Given the description of an element on the screen output the (x, y) to click on. 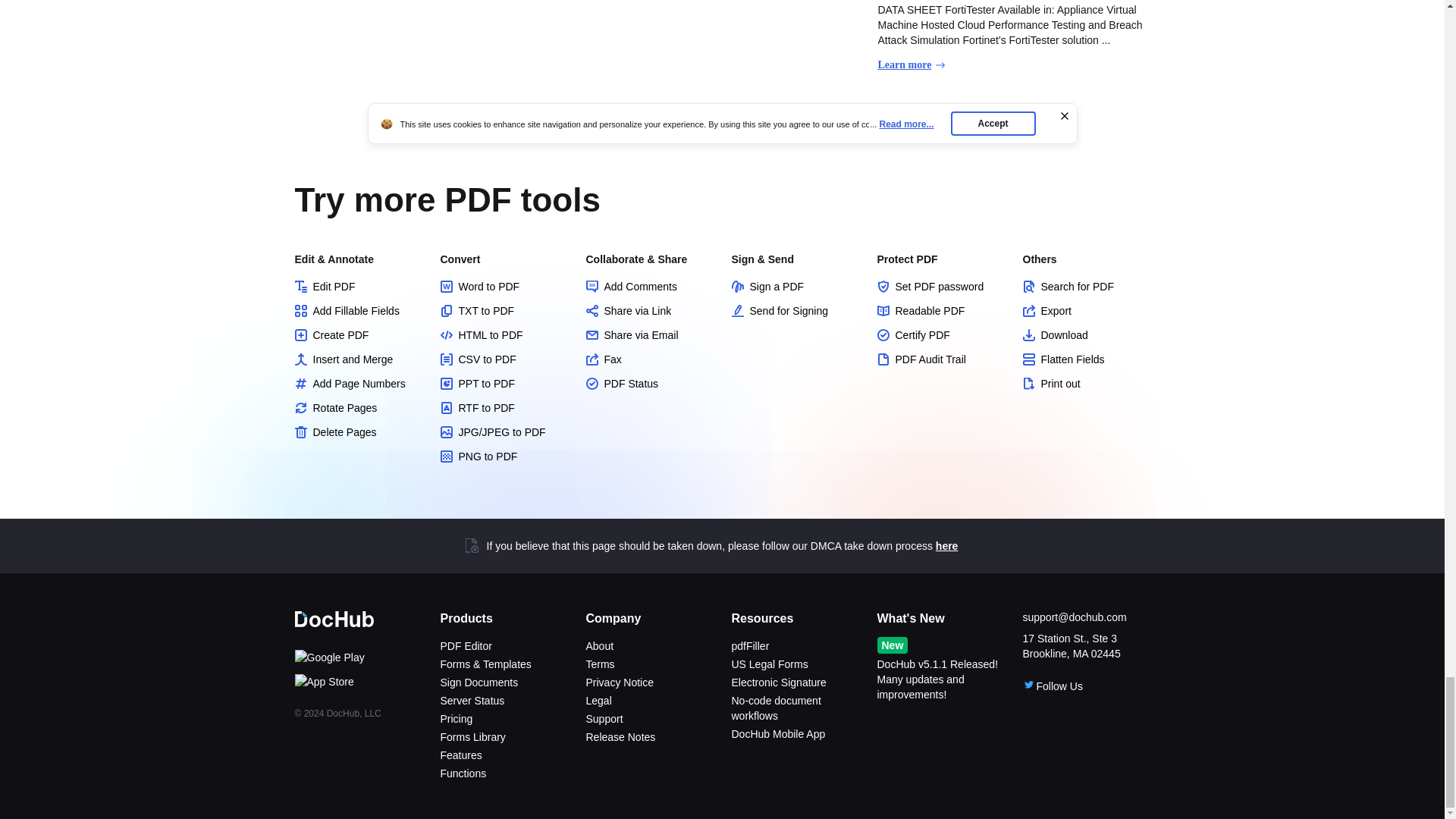
Add Page Numbers (358, 383)
Insert and Merge (358, 359)
Create PDF (358, 335)
Learn more (910, 64)
Edit PDF (358, 286)
Rotate Pages (358, 407)
Add Fillable Fields (358, 310)
